Given the description of an element on the screen output the (x, y) to click on. 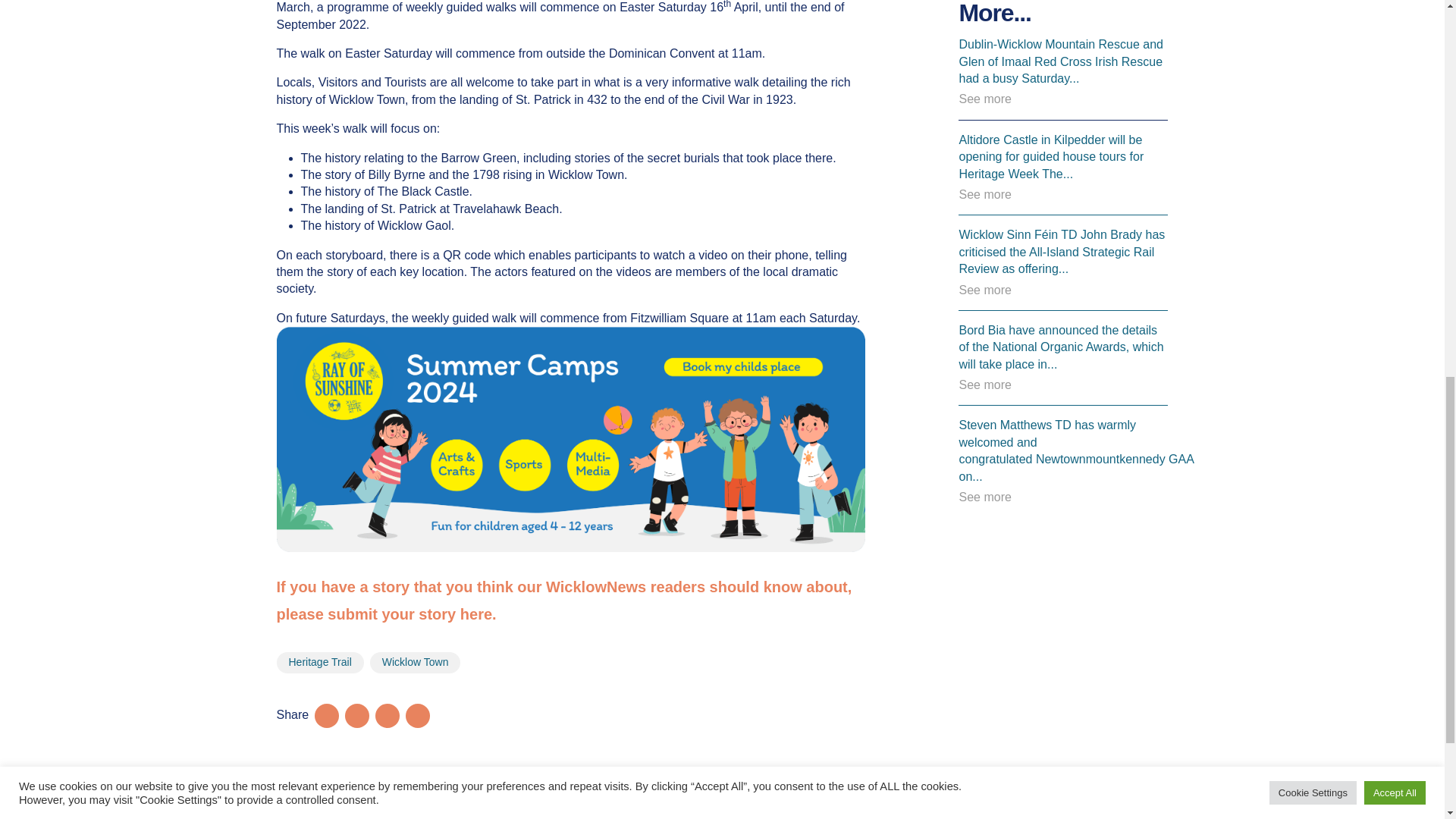
Wicklow Town (415, 662)
Heritage Trail (319, 662)
